Given the description of an element on the screen output the (x, y) to click on. 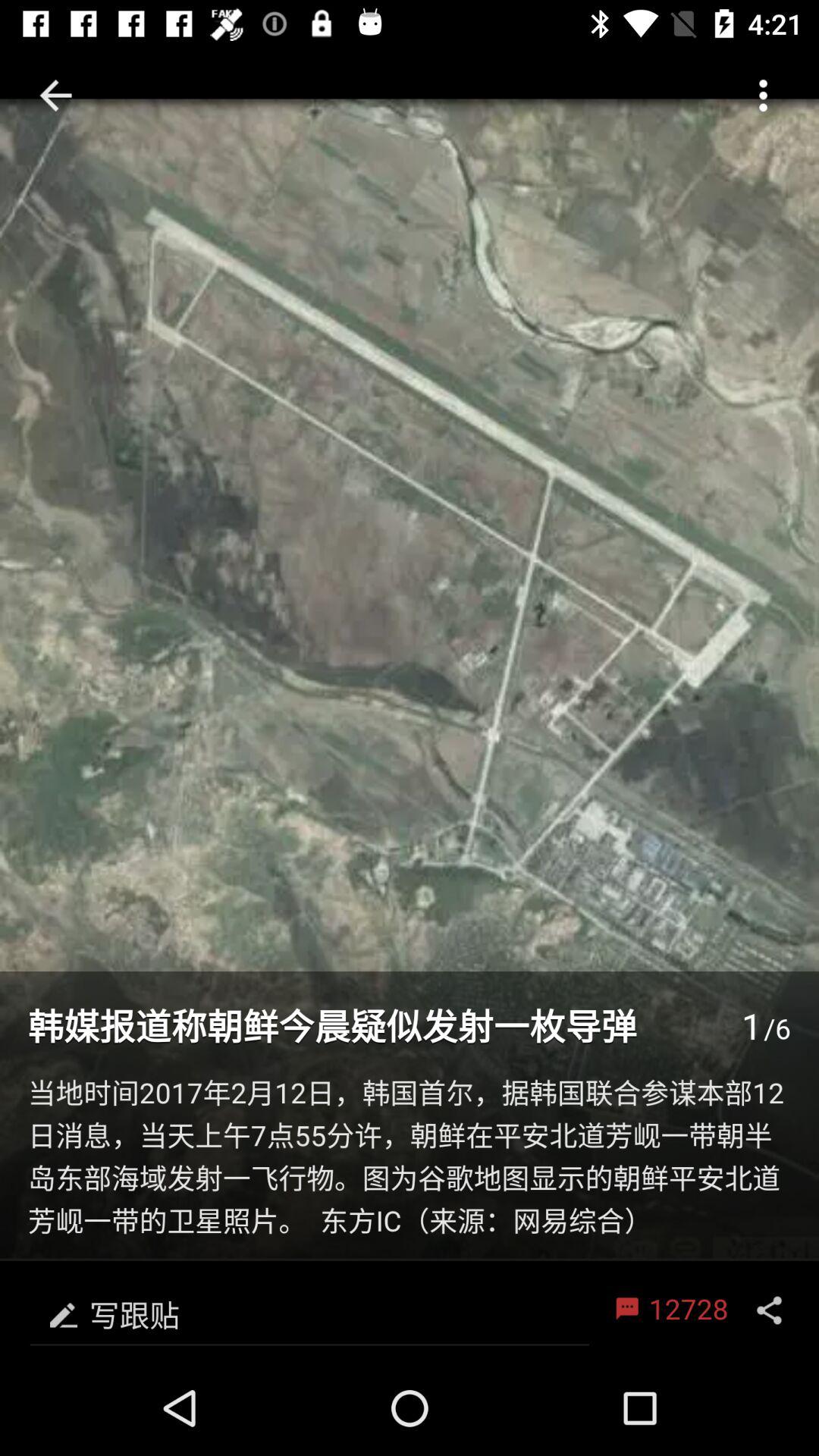
share button (768, 1310)
